Given the description of an element on the screen output the (x, y) to click on. 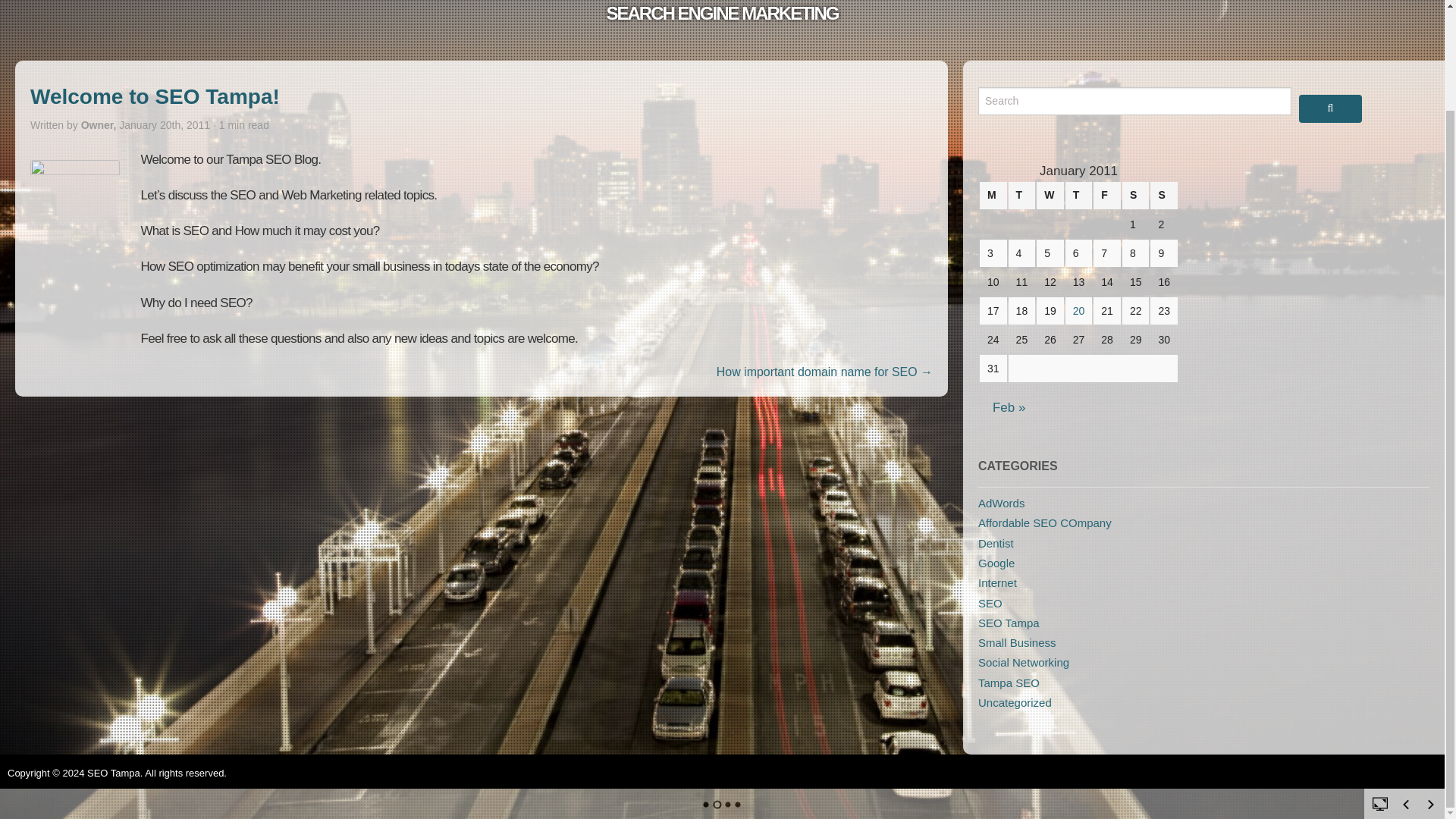
20 (1078, 310)
Owner, (100, 124)
SEO Tampa (1008, 622)
Dentist (995, 543)
Social Networking (1023, 662)
AdWords (1001, 502)
Thursday (1079, 195)
Next (1430, 687)
Uncategorized (1014, 702)
Saturday (1136, 195)
Google (996, 562)
SEO (990, 603)
Monday (993, 195)
Wednesday (1050, 195)
Internet (997, 582)
